Given the description of an element on the screen output the (x, y) to click on. 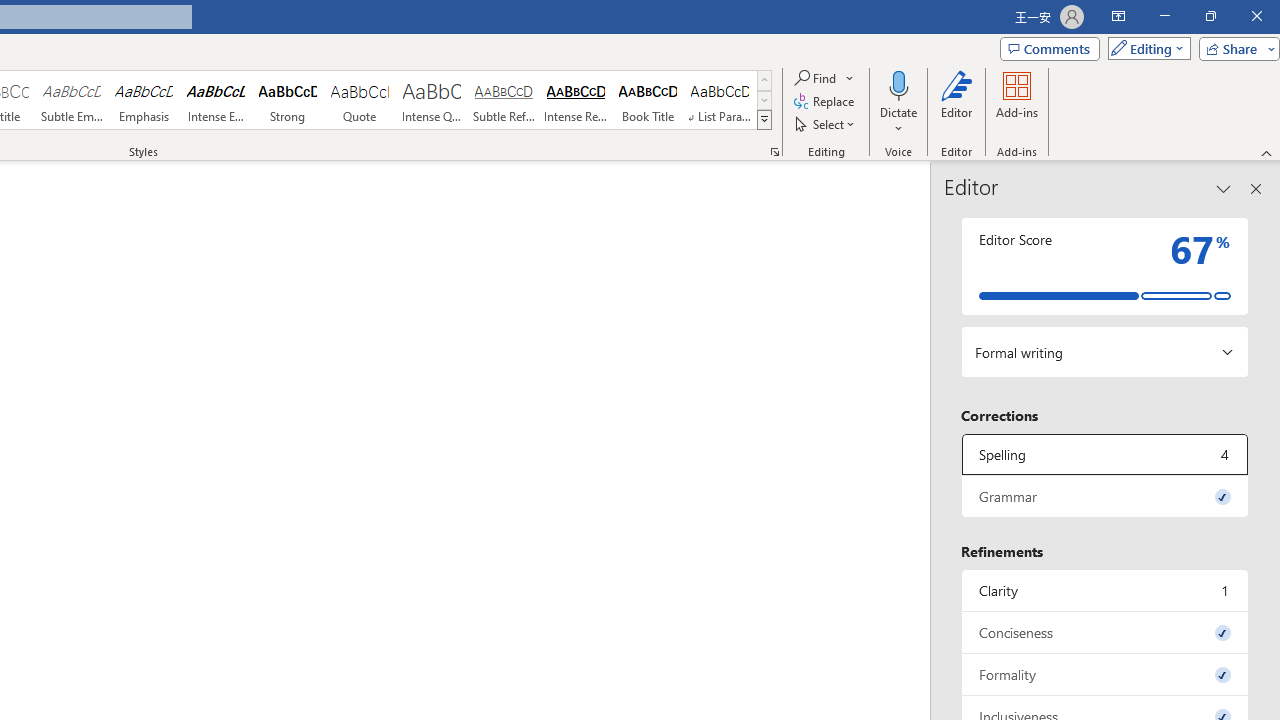
Intense Reference (575, 100)
Intense Emphasis (216, 100)
Editing (1144, 47)
Spelling, 4 issues. Press space or enter to review items. (1105, 454)
Strong (287, 100)
Subtle Emphasis (71, 100)
Emphasis (143, 100)
Intense Quote (431, 100)
Conciseness, 0 issues. Press space or enter to review items. (1105, 632)
